Given the description of an element on the screen output the (x, y) to click on. 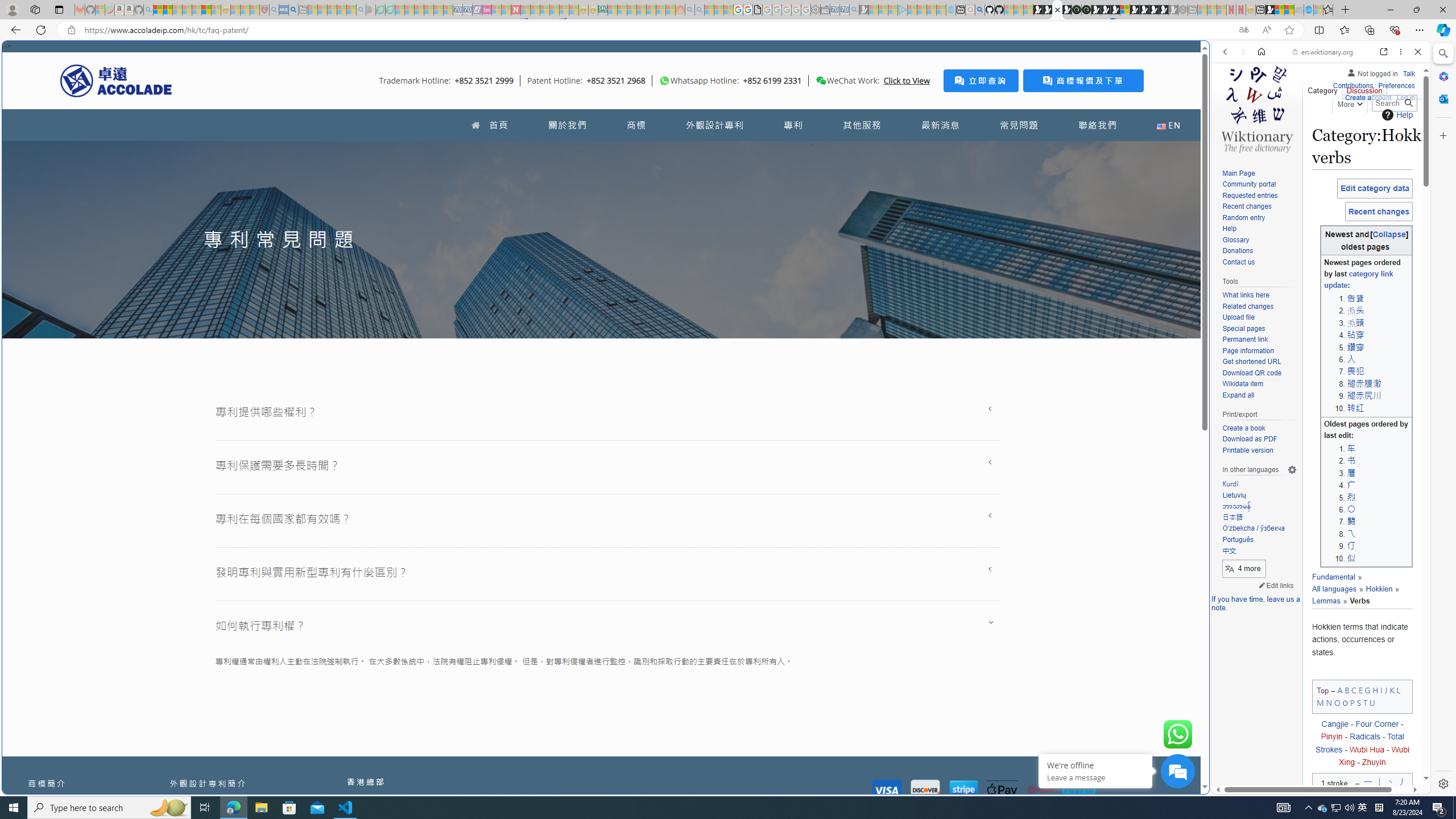
Radicals (1364, 737)
Main Page (1238, 172)
